Given the description of an element on the screen output the (x, y) to click on. 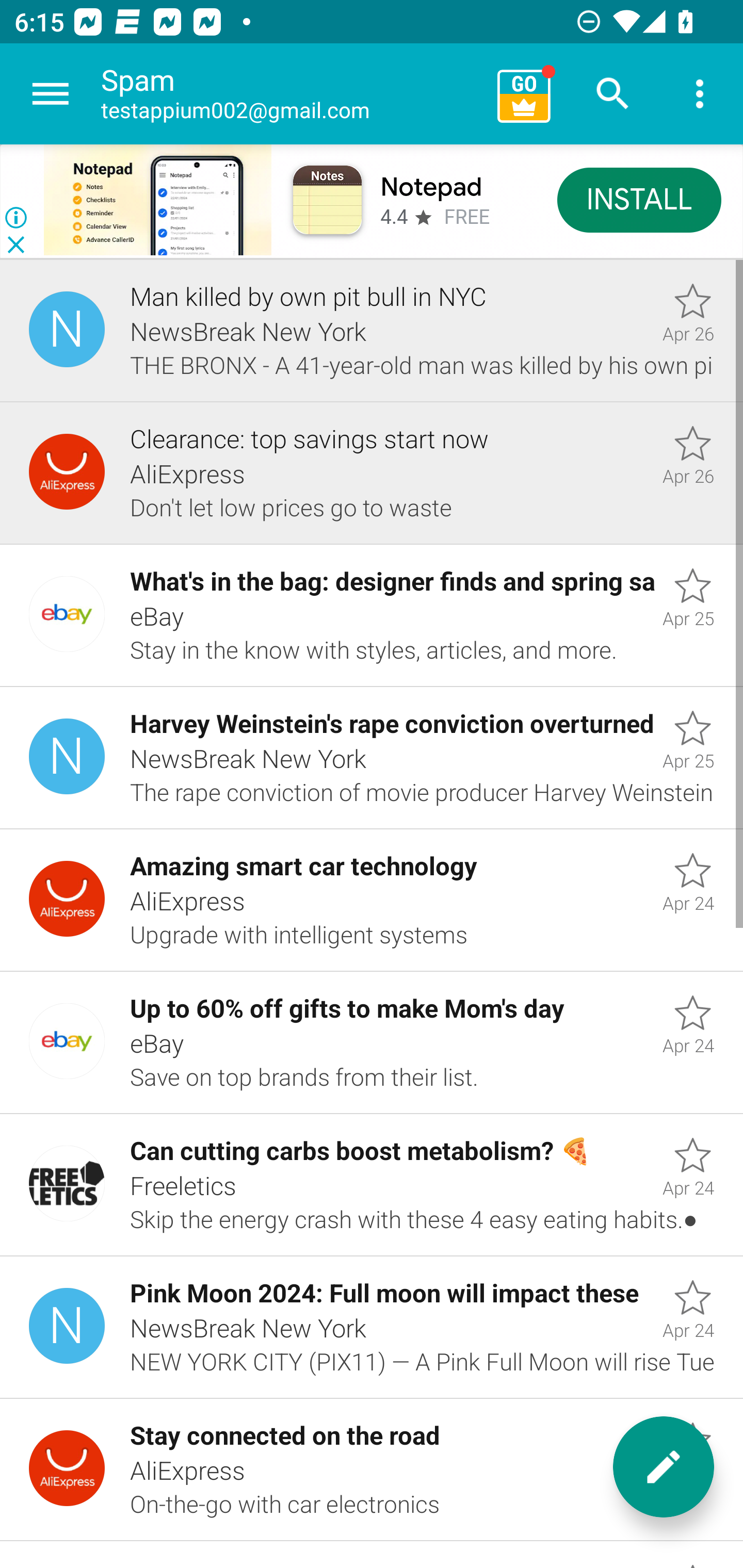
Navigate up (50, 93)
Spam testappium002@gmail.com (291, 93)
Search (612, 93)
More options (699, 93)
INSTALL (639, 199)
Notepad (430, 186)
4.4 (393, 215)
FREE (466, 216)
New message (663, 1466)
